Given the description of an element on the screen output the (x, y) to click on. 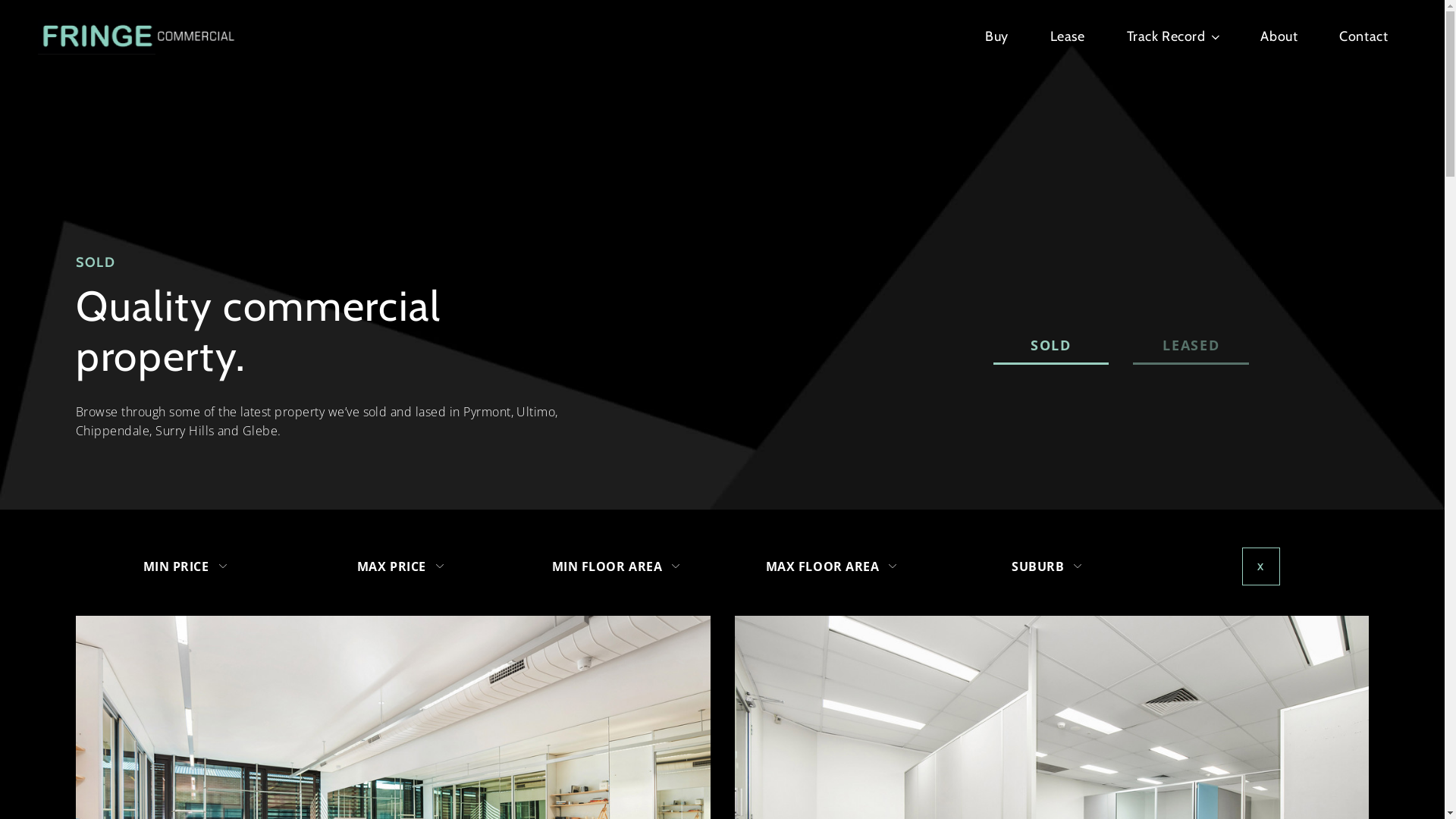
X Element type: text (1261, 566)
LEASED Element type: text (1190, 346)
SOLD Element type: text (1051, 346)
Track Record Element type: text (1172, 36)
FRINGE COMMERCIAL Element type: text (142, 88)
Contact Element type: text (1363, 36)
Buy Element type: text (996, 36)
About Element type: text (1278, 36)
Lease Element type: text (1067, 36)
